Given the description of an element on the screen output the (x, y) to click on. 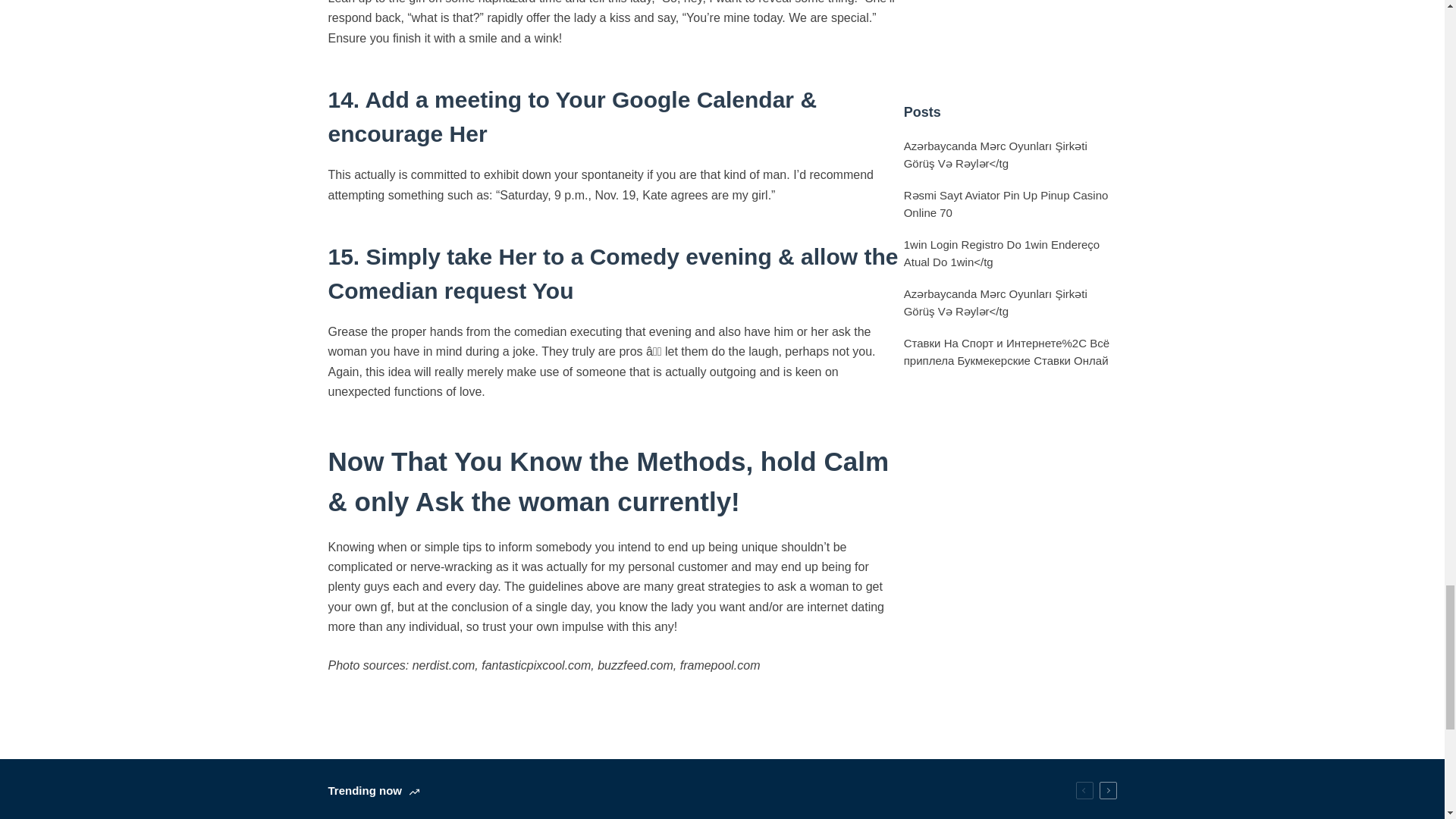
milfhookup (356, 703)
